Given the description of an element on the screen output the (x, y) to click on. 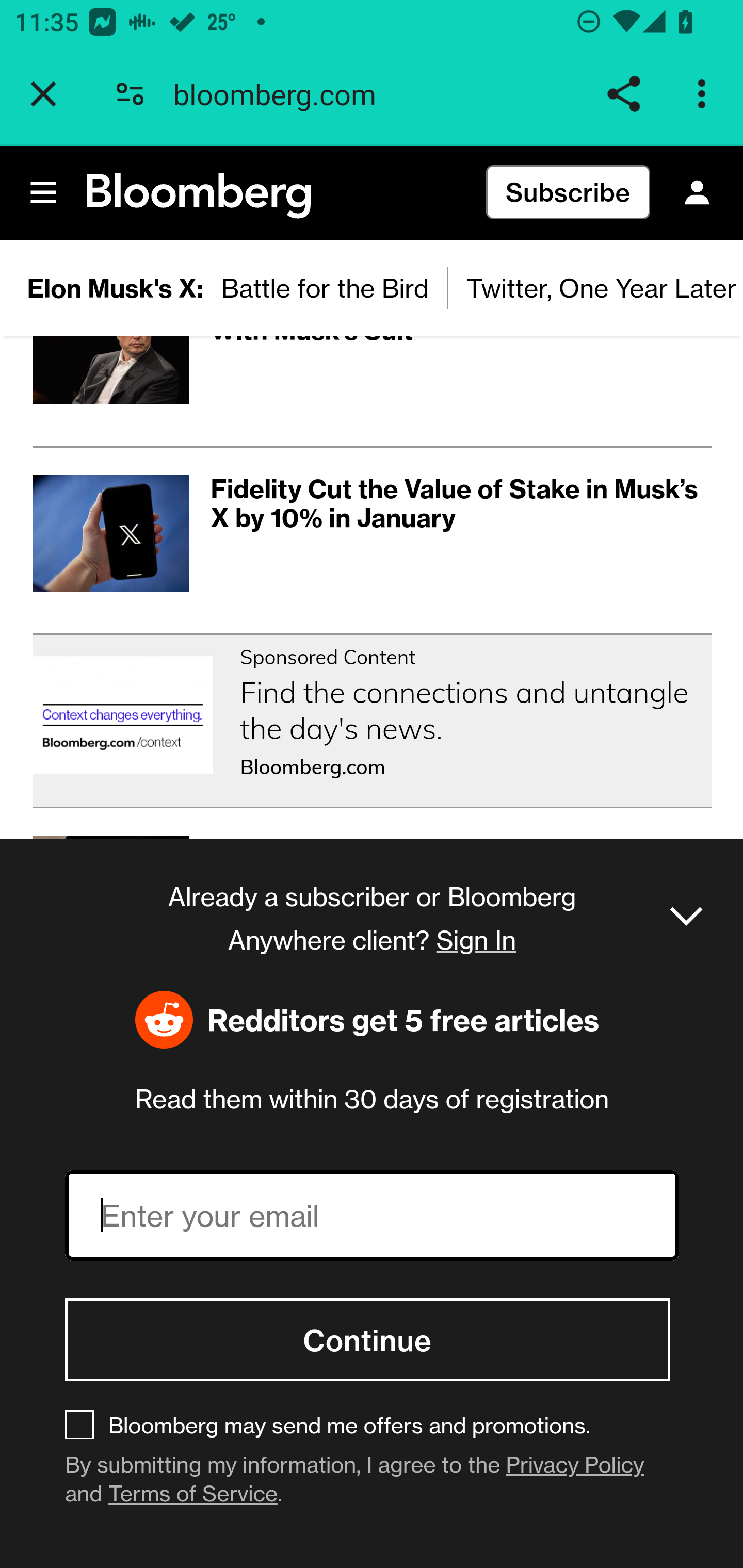
Close tab (43, 93)
Share (623, 93)
Customize and control Google Chrome (705, 93)
Connection is secure (129, 93)
bloomberg.com (281, 93)
Mobile Menu Button (44, 192)
Subscribe (567, 192)
Sign In (696, 192)
Bloomberg (199, 196)
Battle for the Bird (325, 288)
Twitter, One Year Later (595, 288)
